Given the description of an element on the screen output the (x, y) to click on. 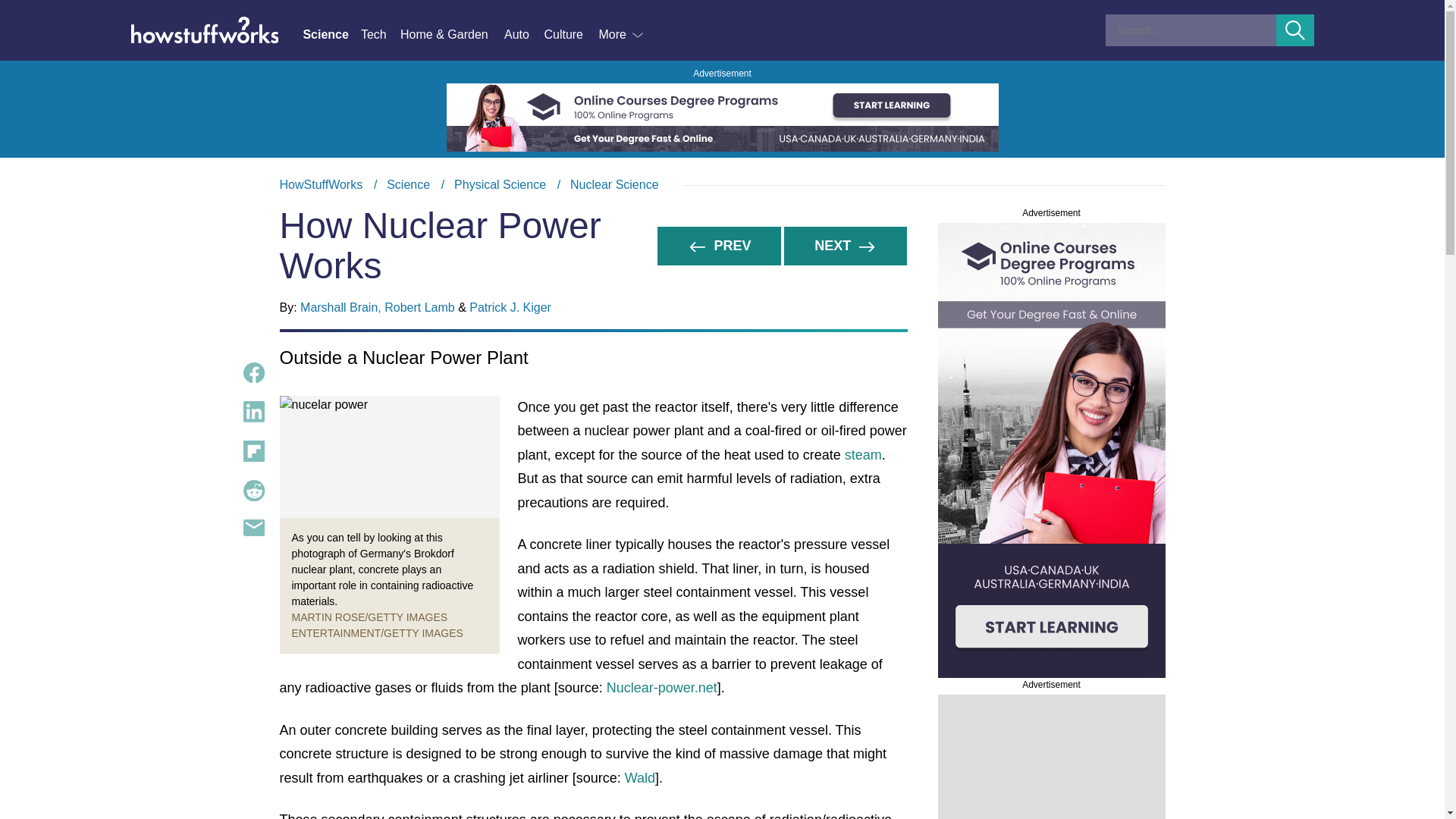
Tech (380, 34)
Science (721, 185)
Share Content on LinkedIn (408, 184)
Share Content on Facebook (253, 411)
Submit Search (253, 372)
Share Content on Flipboard (1295, 29)
Share Content on Reddit (253, 450)
Share Content via Email (253, 490)
Science (253, 527)
